Given the description of an element on the screen output the (x, y) to click on. 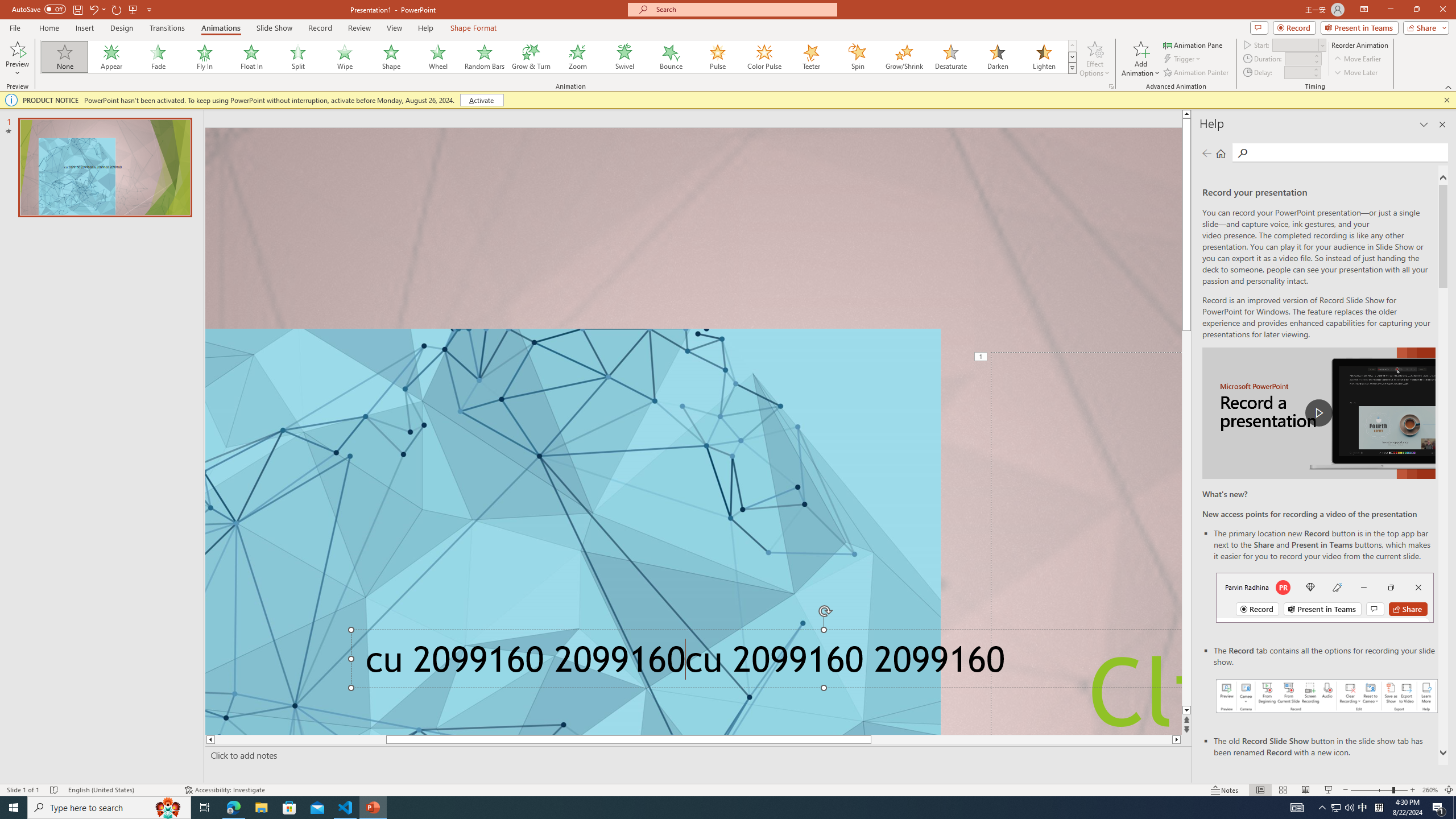
Previous page (1206, 152)
None (65, 56)
Appear (111, 56)
Swivel (624, 56)
